Given the description of an element on the screen output the (x, y) to click on. 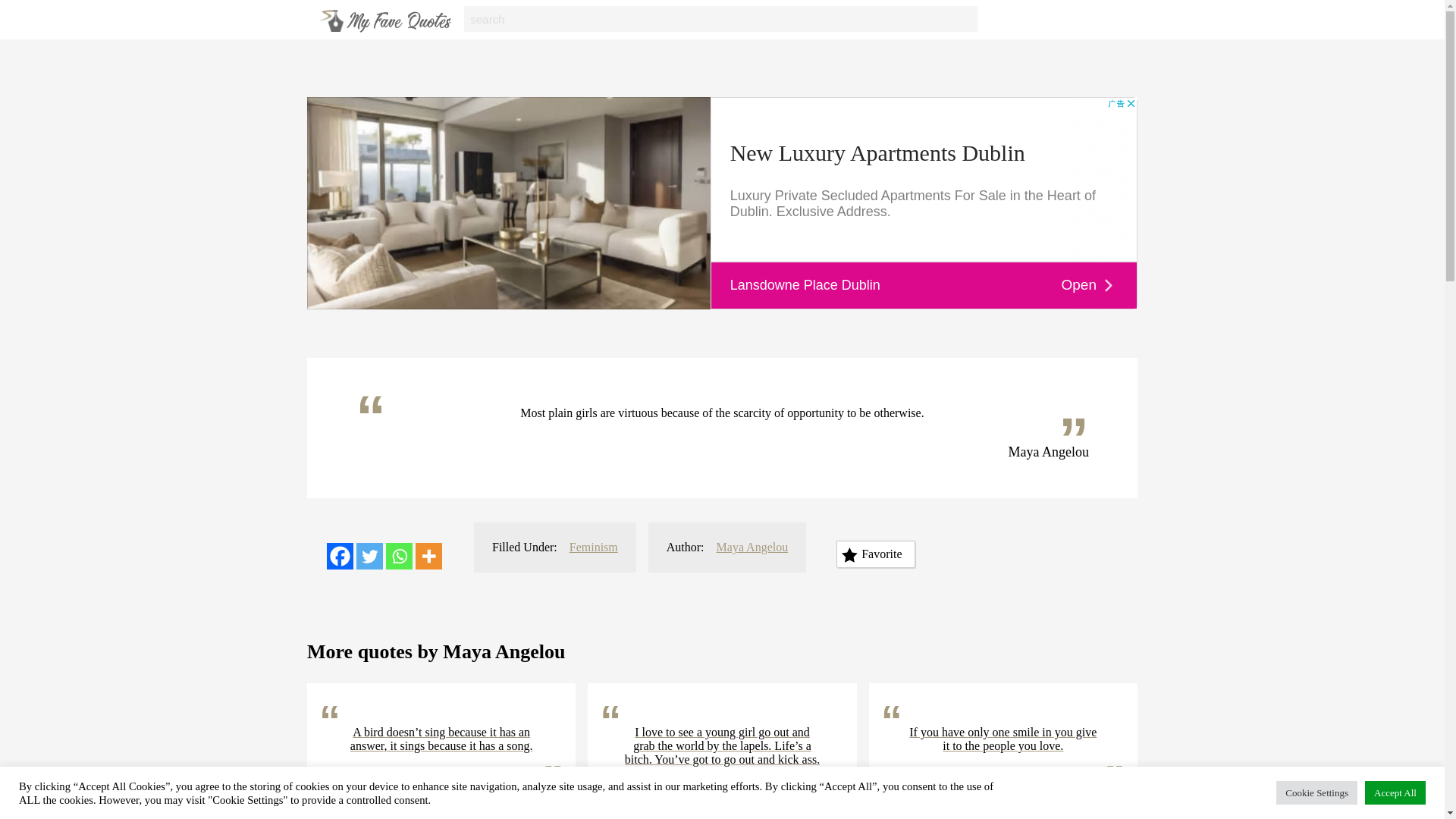
Maya Angelou (752, 546)
Maya Angelou (1070, 799)
Facebook (339, 555)
More (428, 555)
Maya Angelou (789, 811)
Whatsapp (398, 555)
Feminism (593, 546)
Maya Angelou (508, 799)
Twitter (369, 555)
